Given the description of an element on the screen output the (x, y) to click on. 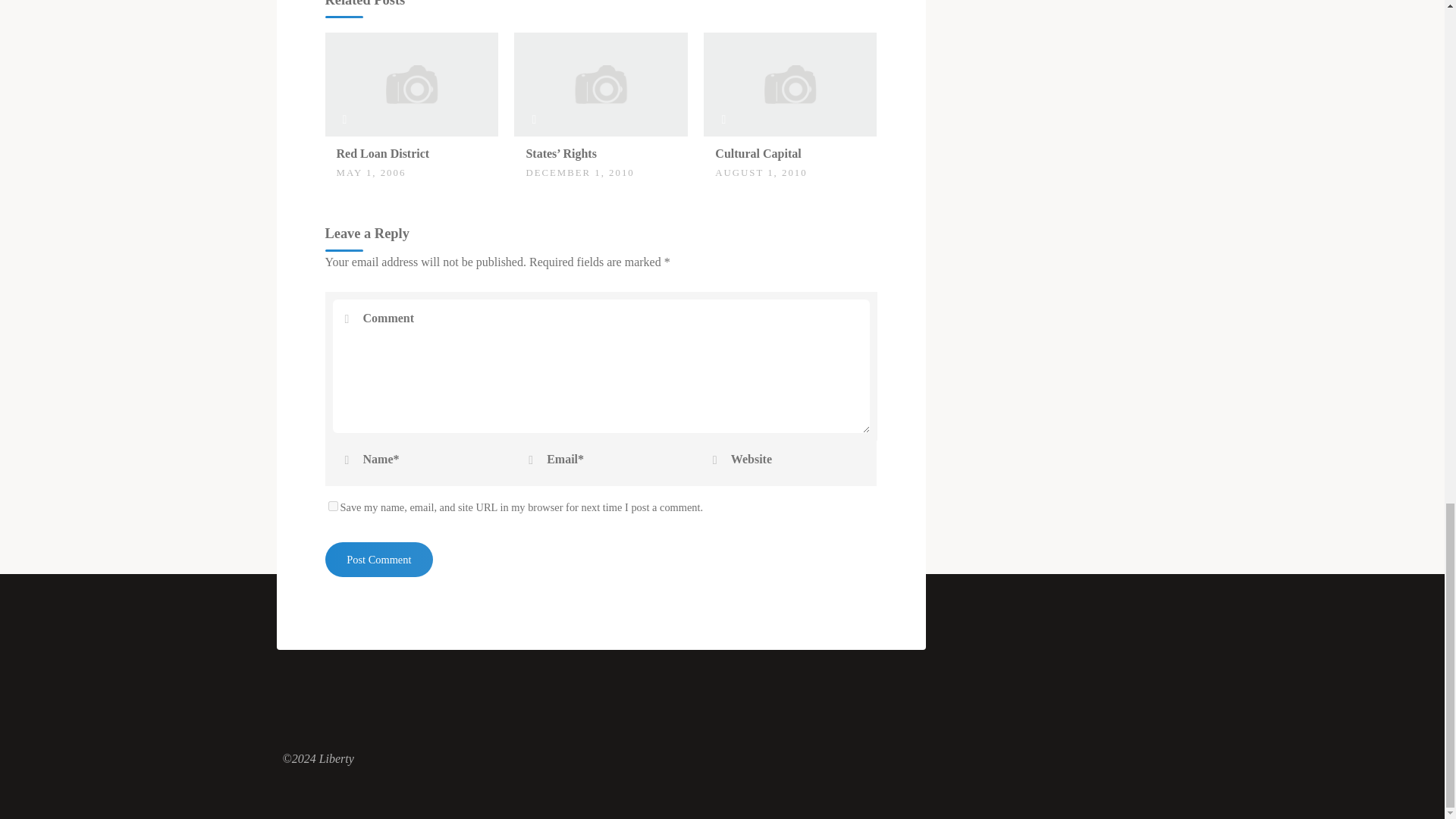
yes (332, 506)
Post Comment (378, 559)
Red Loan District (382, 153)
Red Loan District (410, 82)
